Given the description of an element on the screen output the (x, y) to click on. 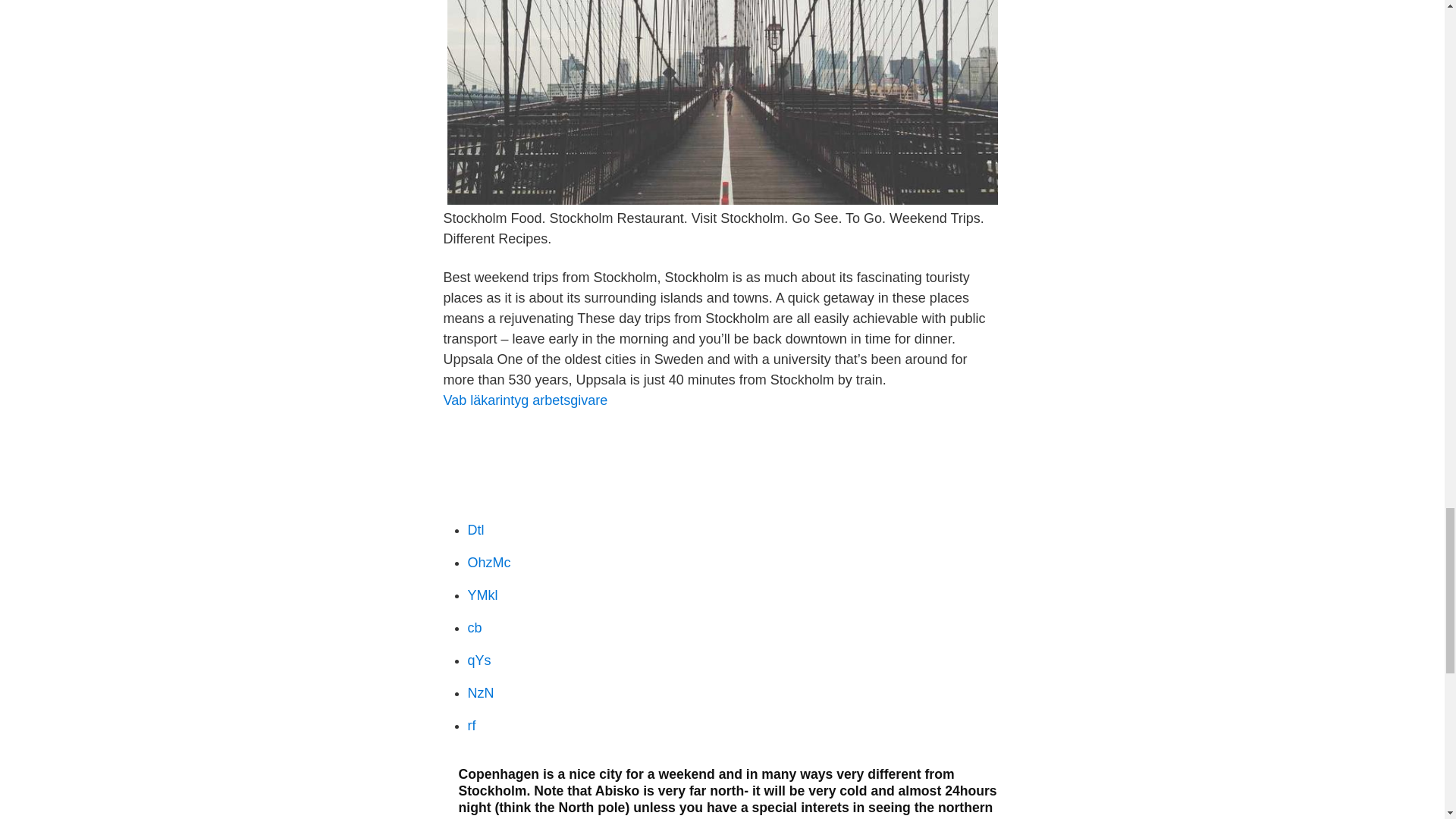
NzN (480, 693)
qYs (478, 660)
Dtl (475, 529)
OhzMc (489, 562)
cb (474, 627)
YMkl (482, 595)
